Given the description of an element on the screen output the (x, y) to click on. 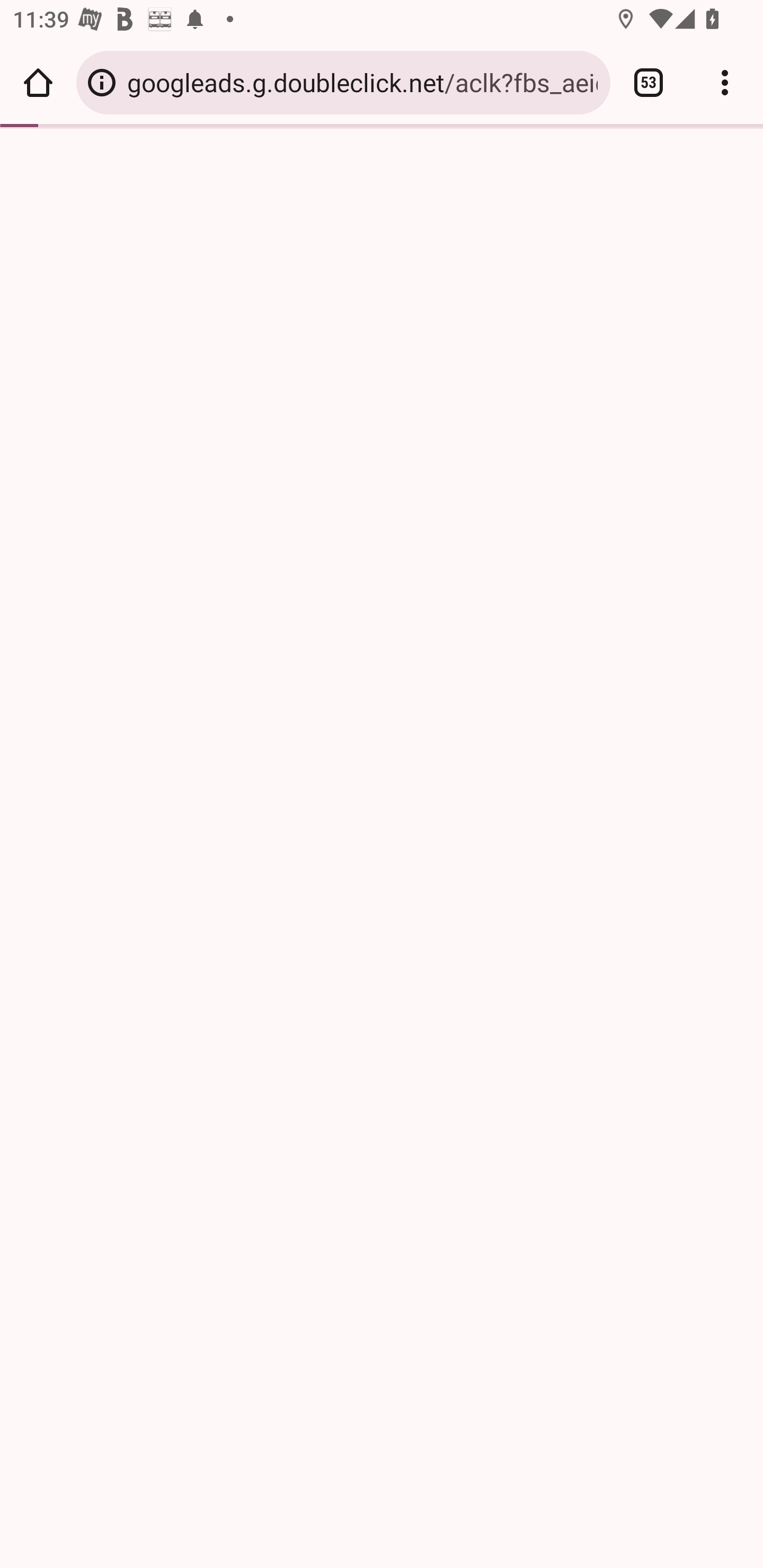
Open the home page (38, 82)
Your connection to this site is not secure (101, 82)
Switch or close tabs (648, 82)
Customize and control Google Chrome (724, 82)
